Given the description of an element on the screen output the (x, y) to click on. 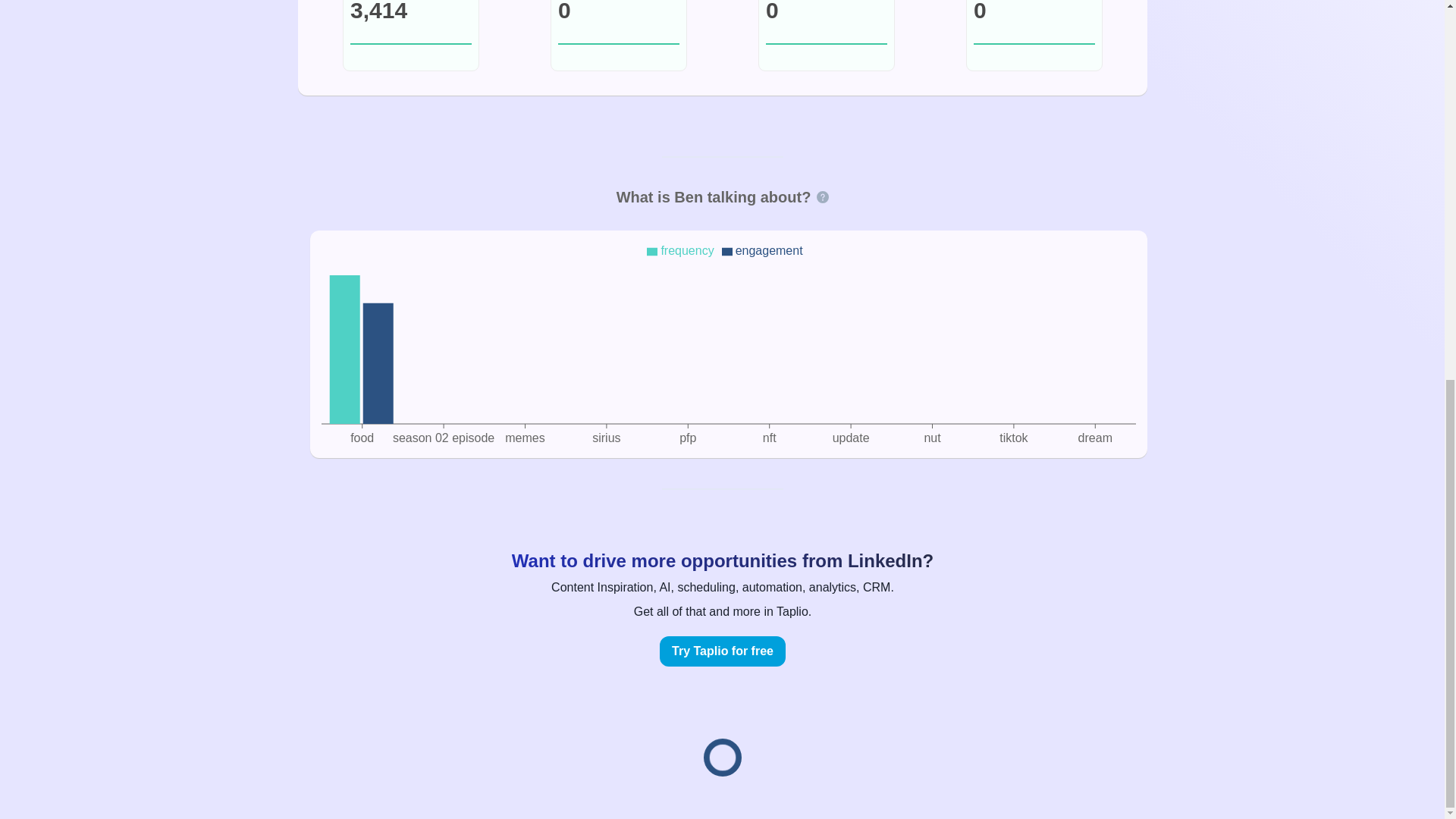
nft (768, 437)
dream (1094, 437)
season 02 episode (442, 437)
food (362, 437)
pfp (687, 437)
update (850, 437)
tiktok (1012, 437)
sirius (606, 437)
nut (931, 437)
memes (524, 437)
Try Taplio for free (722, 650)
